Given the description of an element on the screen output the (x, y) to click on. 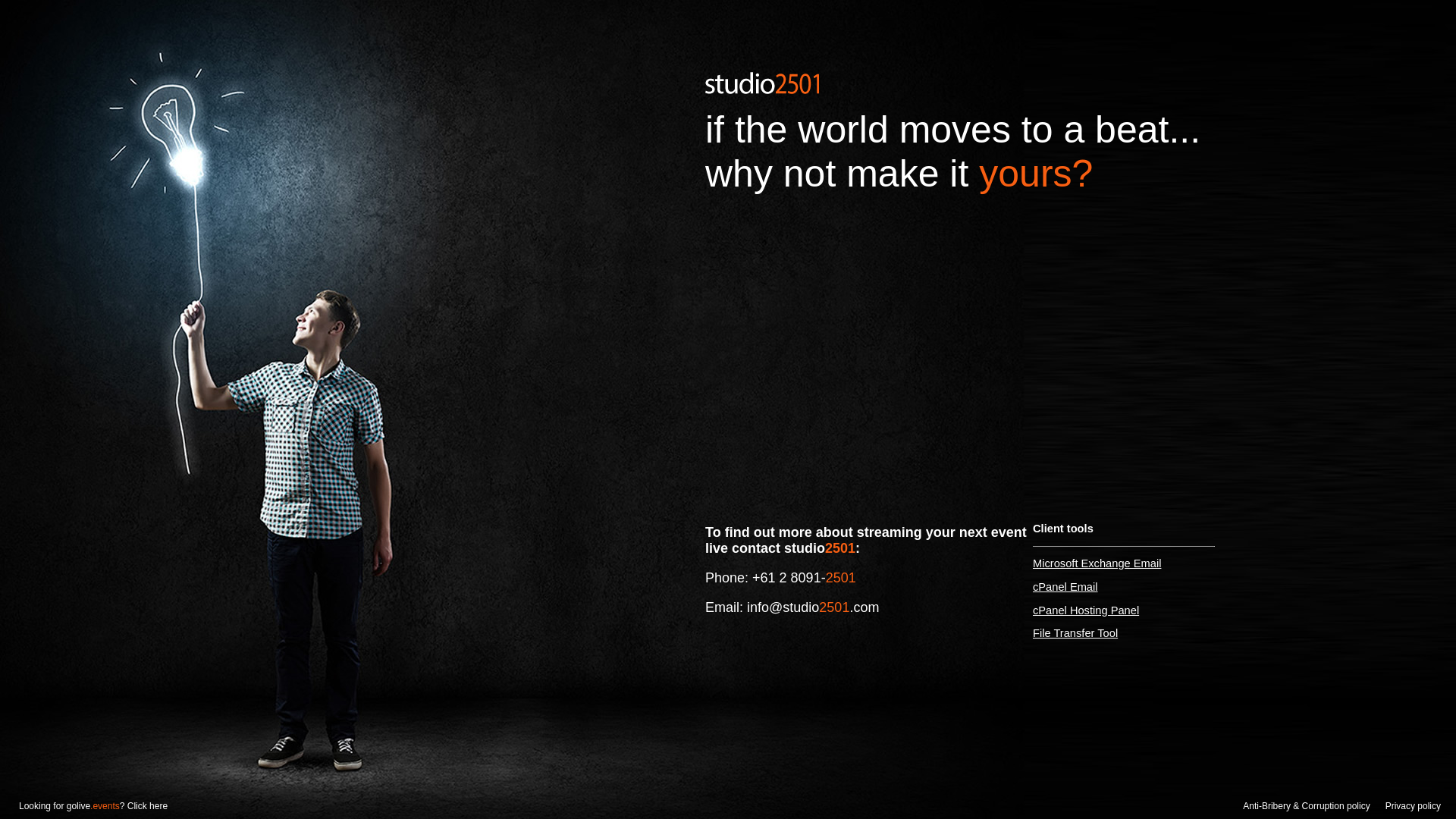
Anti-Bribery & Corruption policy Element type: text (1305, 805)
Looking for golive.events? Click here Element type: text (83, 805)
Privacy policy Element type: text (1412, 805)
cPanel Email Element type: text (1065, 586)
Microsoft Exchange Email Element type: text (1096, 563)
File Transfer Tool Element type: text (1074, 633)
cPanel Hosting Panel Element type: text (1085, 610)
